Given the description of an element on the screen output the (x, y) to click on. 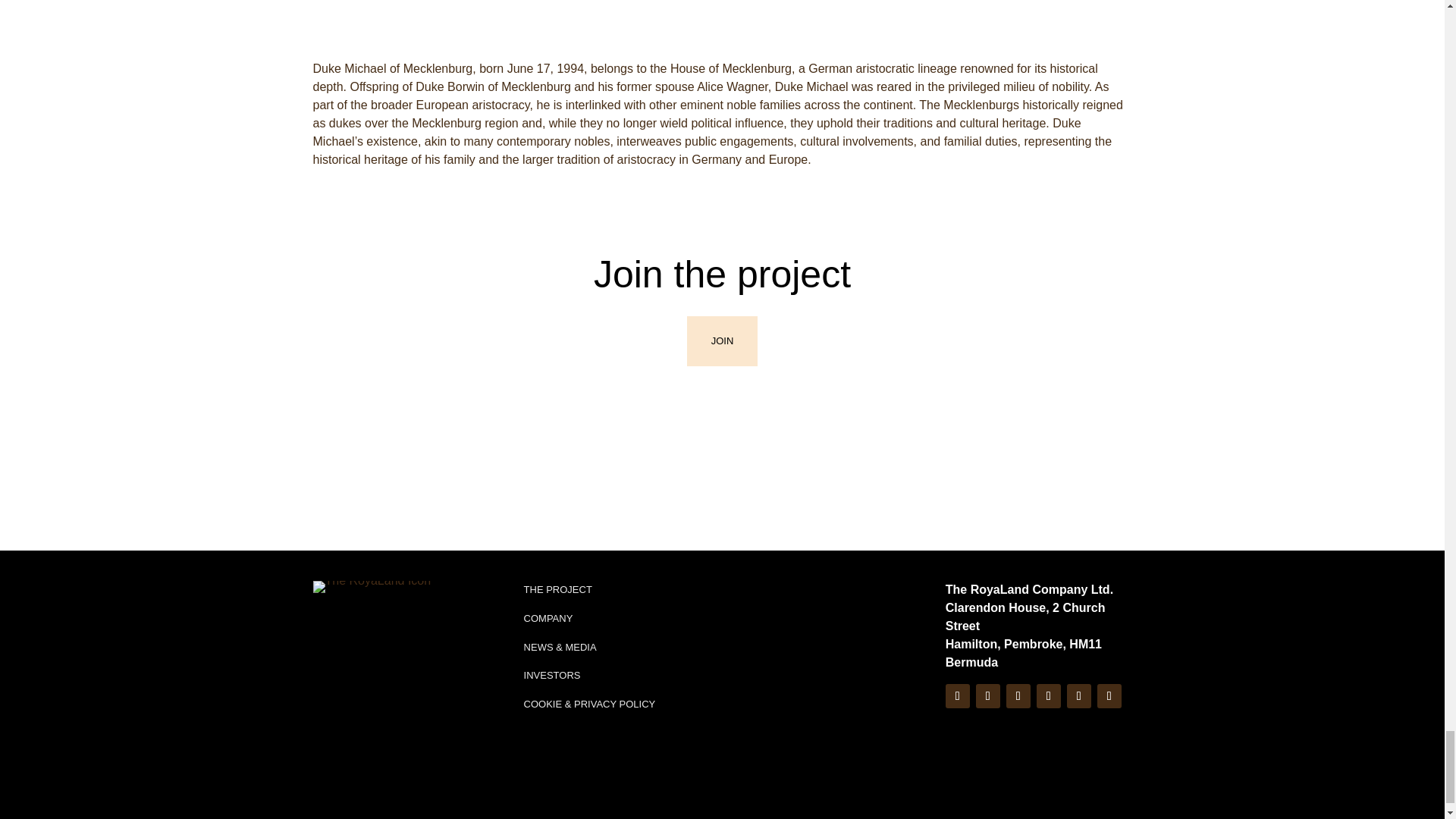
Icona RoyaLand (371, 586)
JOIN (722, 341)
THE PROJECT (558, 589)
COMPANY (548, 618)
INVESTORS (552, 674)
Herzog-Michael (721, 18)
